Given the description of an element on the screen output the (x, y) to click on. 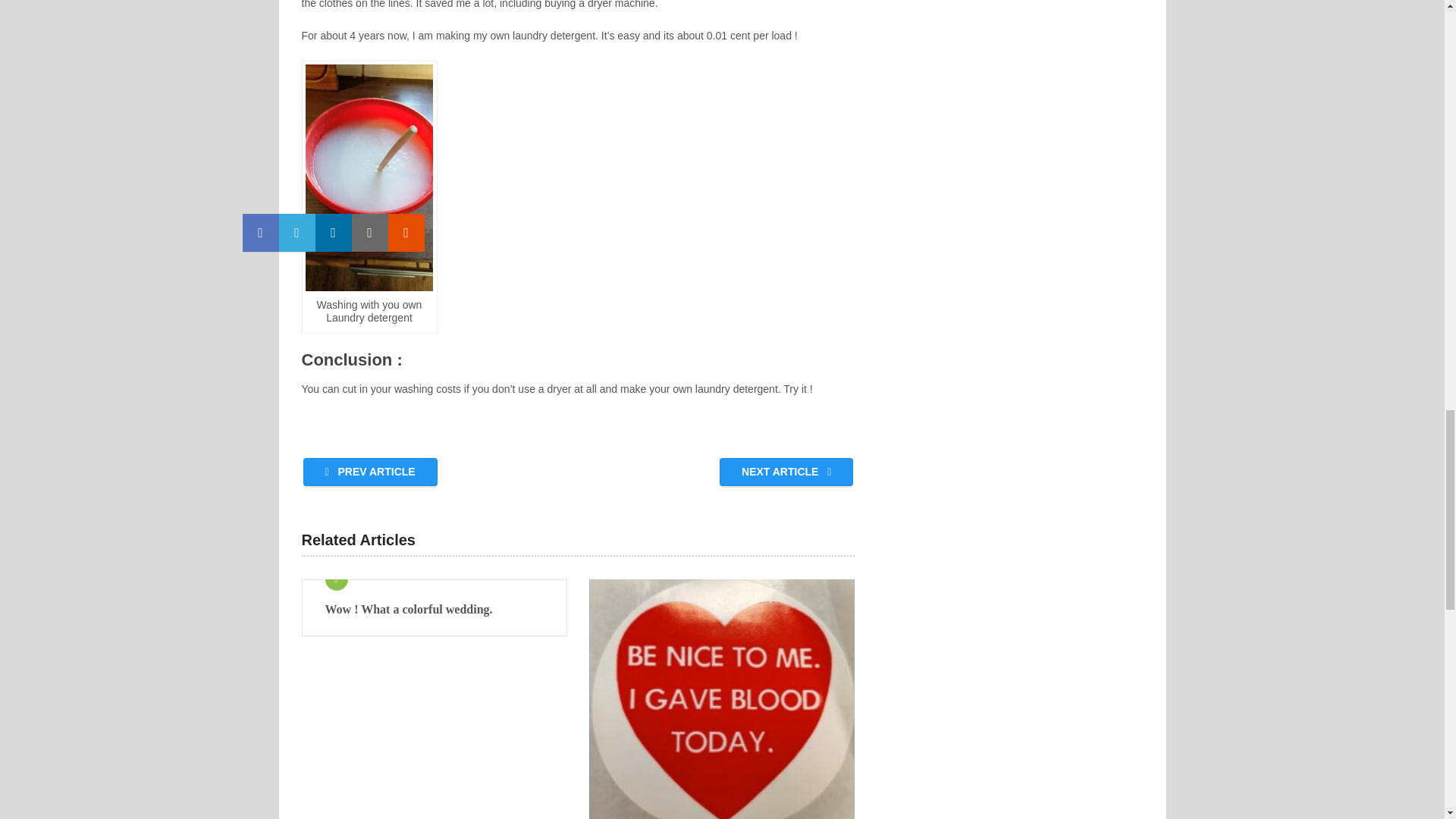
Blood Donation: My First Time. (721, 699)
PREV ARTICLE (370, 471)
NEXT ARTICLE (786, 471)
Wow ! What a colorful wedding. (433, 609)
Wow ! What a colorful wedding. (433, 609)
